Given the description of an element on the screen output the (x, y) to click on. 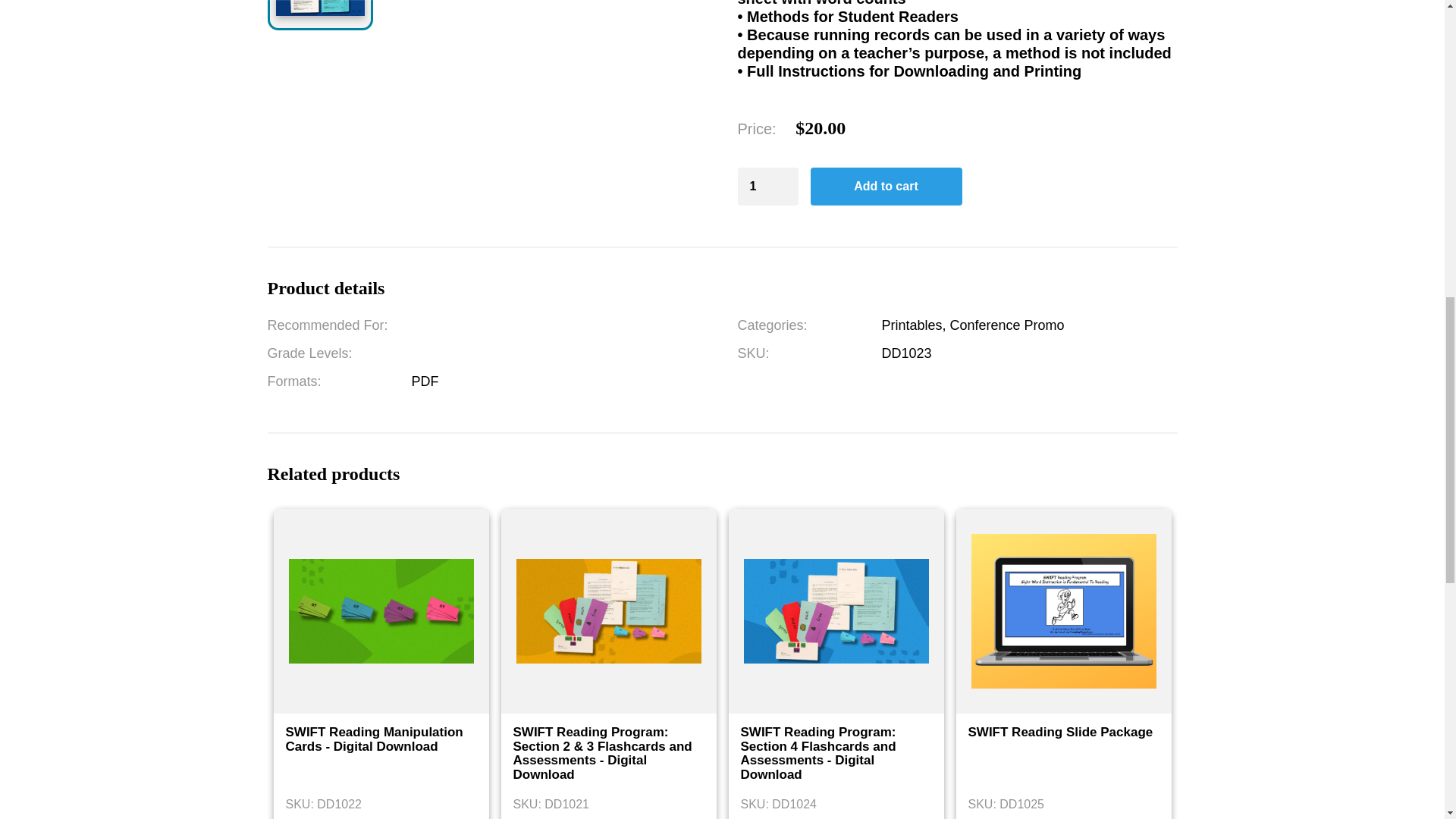
1 (766, 186)
